Given the description of an element on the screen output the (x, y) to click on. 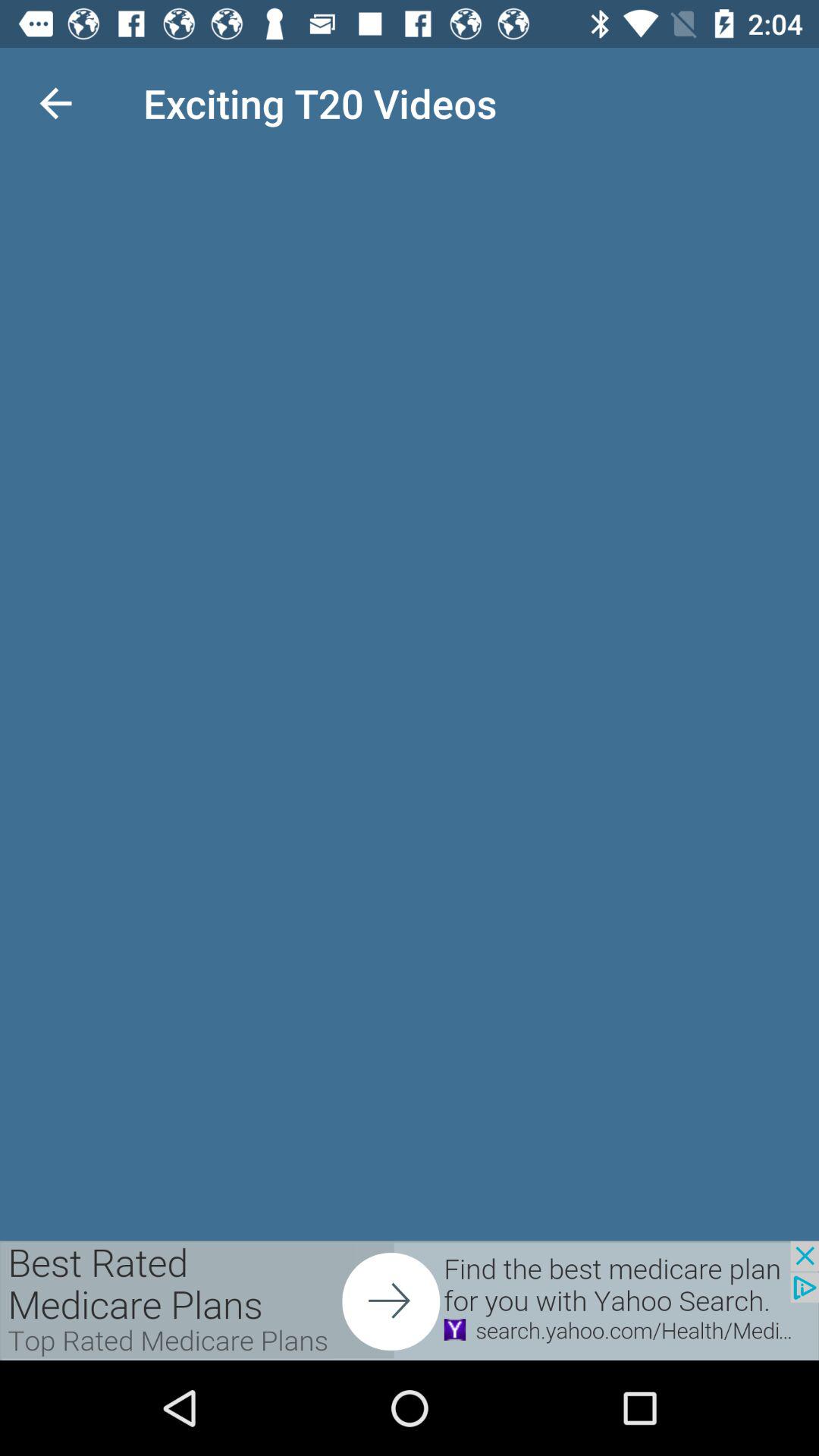
sponsor advertisement for medicare plans (409, 1300)
